Given the description of an element on the screen output the (x, y) to click on. 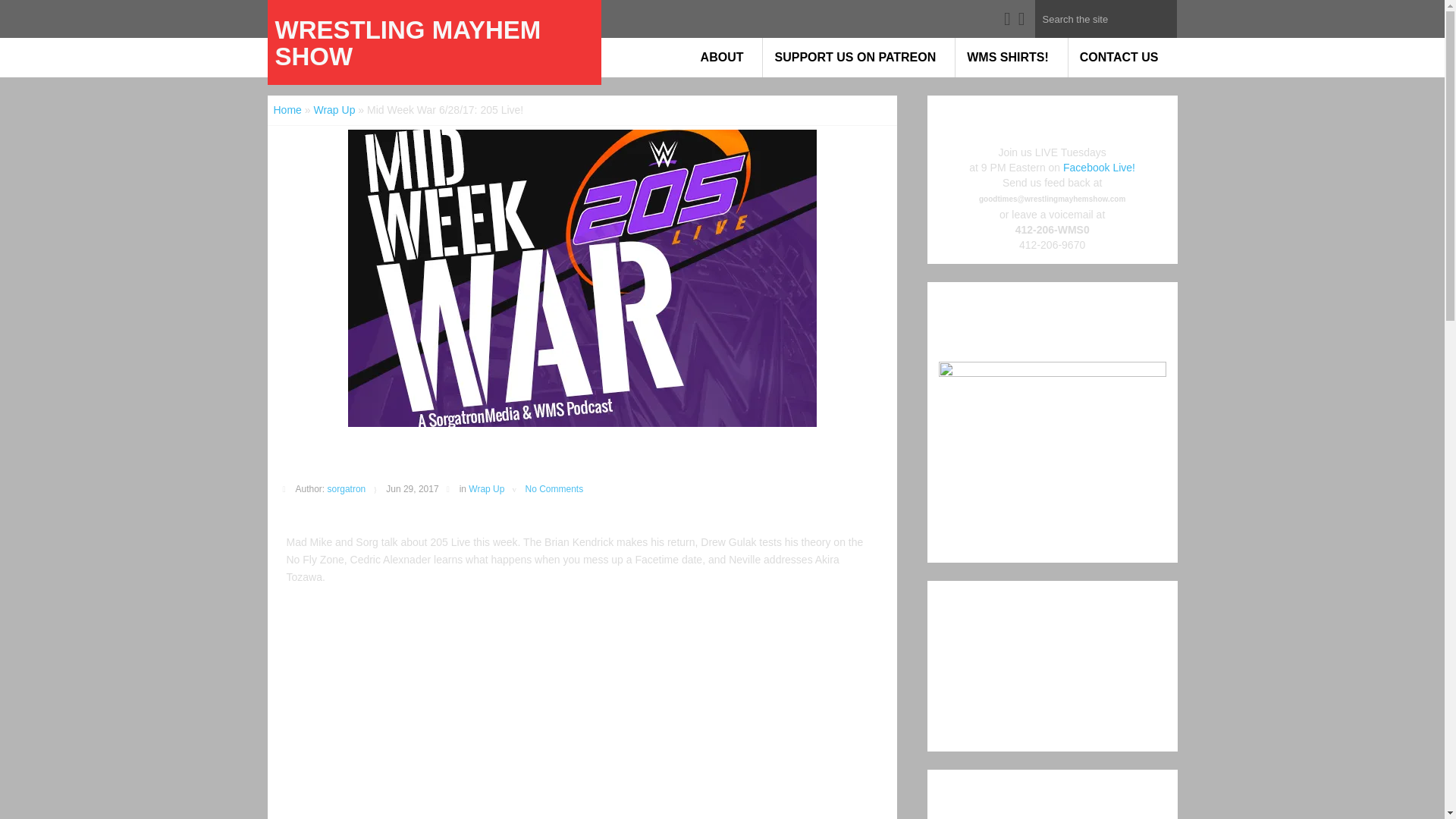
CONTACT US (1122, 56)
SUPPORT US ON PATREON (858, 56)
WRESTLING MAYHEM SHOW (433, 42)
ABOUT (725, 56)
sorgatron (346, 489)
Facebook Live! (1098, 167)
Home (287, 110)
Posts by sorgatron (346, 489)
Search the site (1104, 18)
Wrap Up (334, 110)
